Given the description of an element on the screen output the (x, y) to click on. 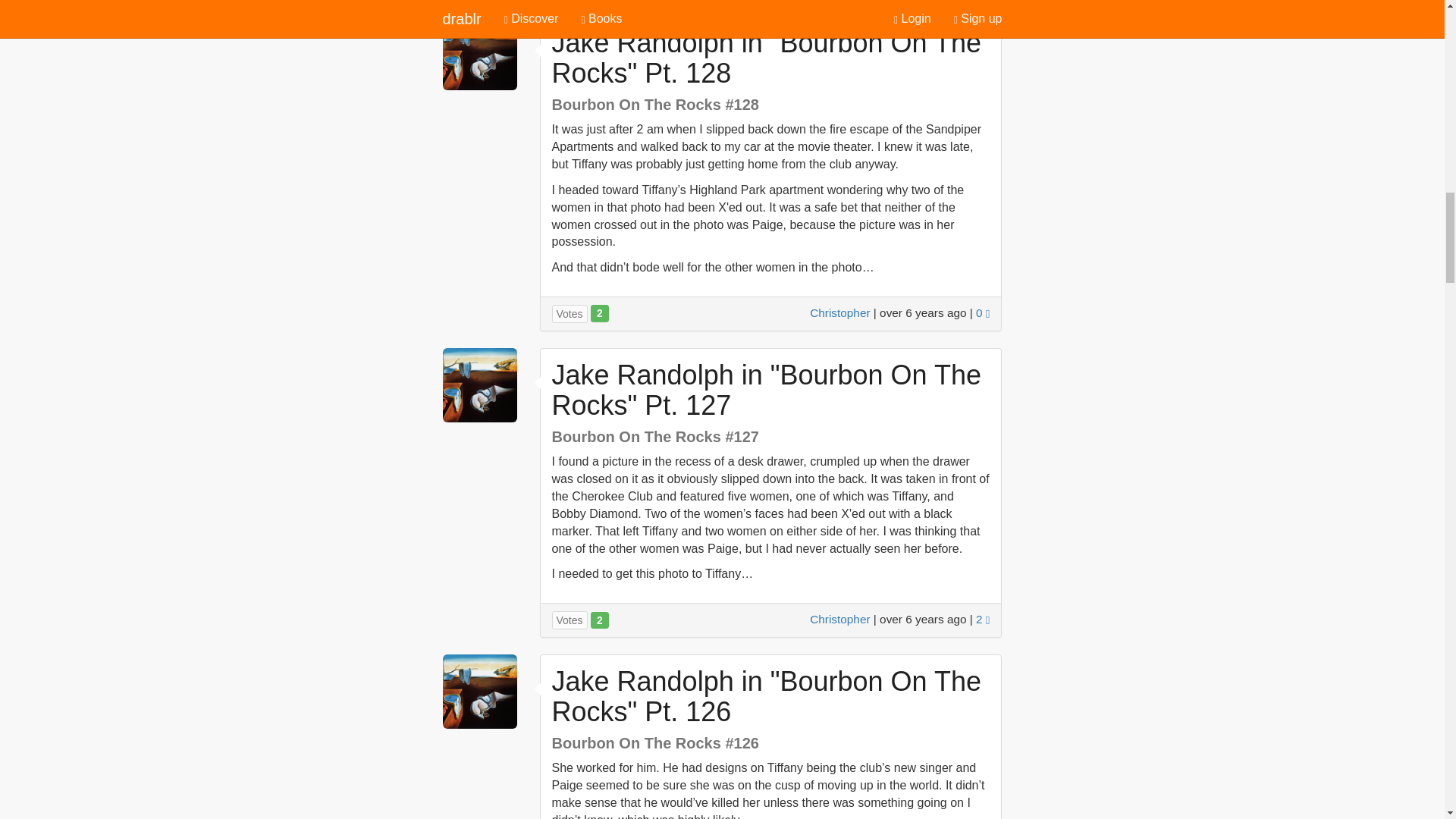
Votes (569, 313)
Christopher (839, 618)
Jake Randolph in "Bourbon On The Rocks" Pt. 128 (766, 57)
Christopher (839, 312)
Jake Randolph in "Bourbon On The Rocks" Pt. 127 (766, 389)
Comments (982, 618)
0 (982, 312)
Comments (982, 312)
